Given the description of an element on the screen output the (x, y) to click on. 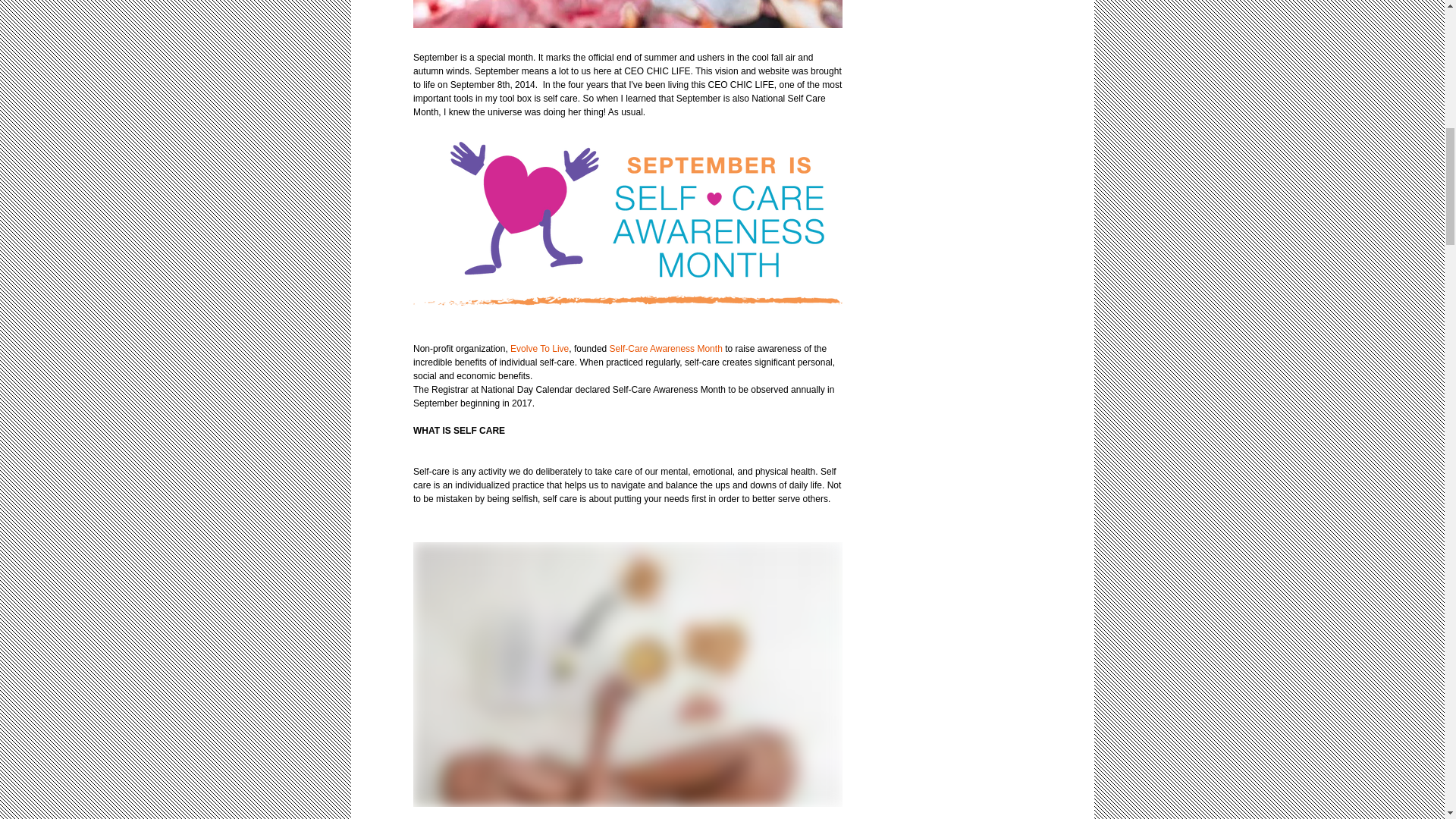
 Evolve To Live (537, 348)
 Self-Care Awareness Month (664, 348)
